Given the description of an element on the screen output the (x, y) to click on. 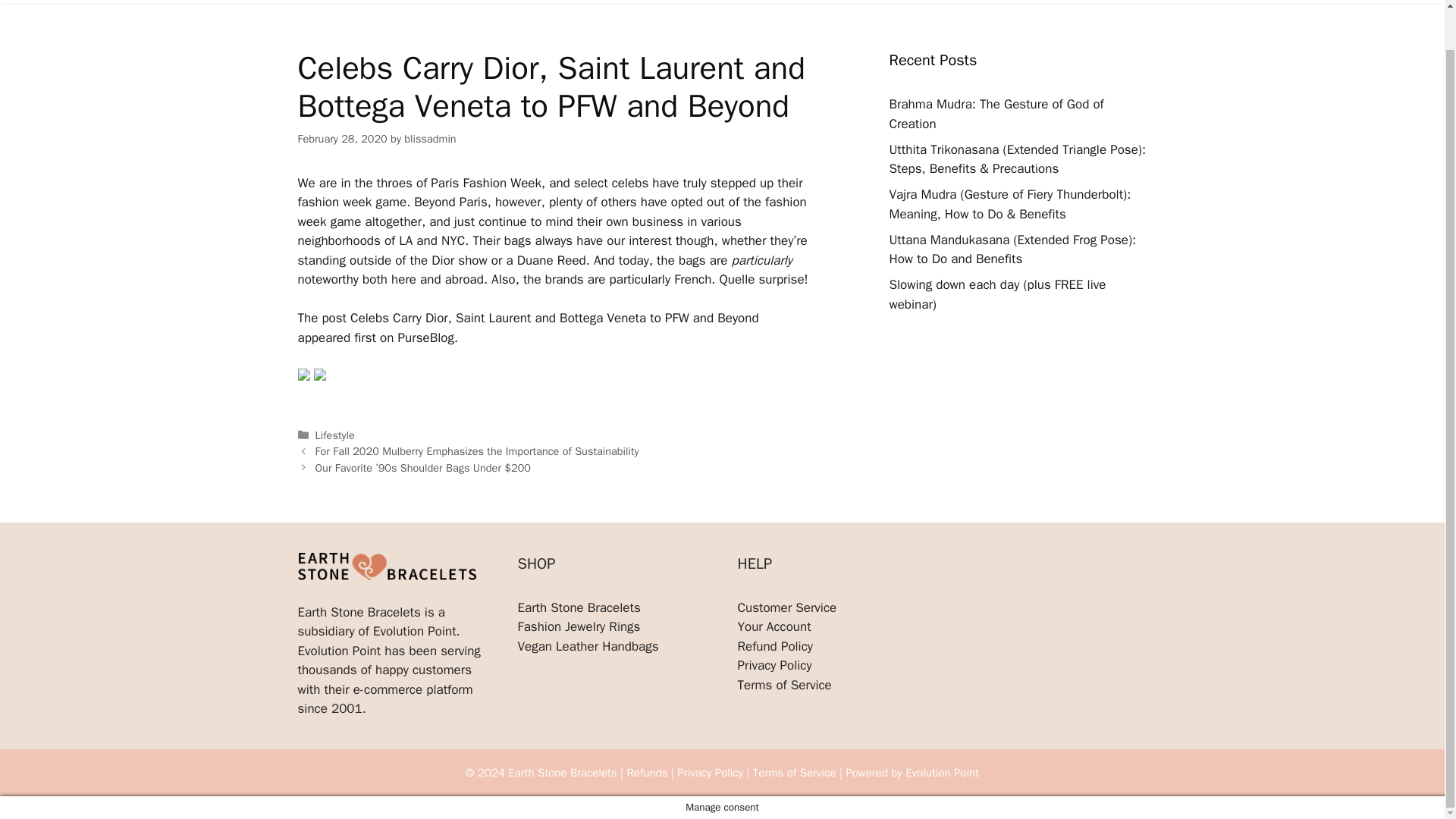
Customer Service (895, 2)
Customer Service (785, 607)
Refund Policy (774, 646)
Earth Stone Bracelets (578, 607)
View your shopping cart (1054, 2)
Privacy Policy (773, 665)
Fashion Jewelry Rings (578, 626)
blissadmin (429, 138)
View all posts by blissadmin (429, 138)
Brahma Mudra: The Gesture of God of Creation (995, 113)
